Given the description of an element on the screen output the (x, y) to click on. 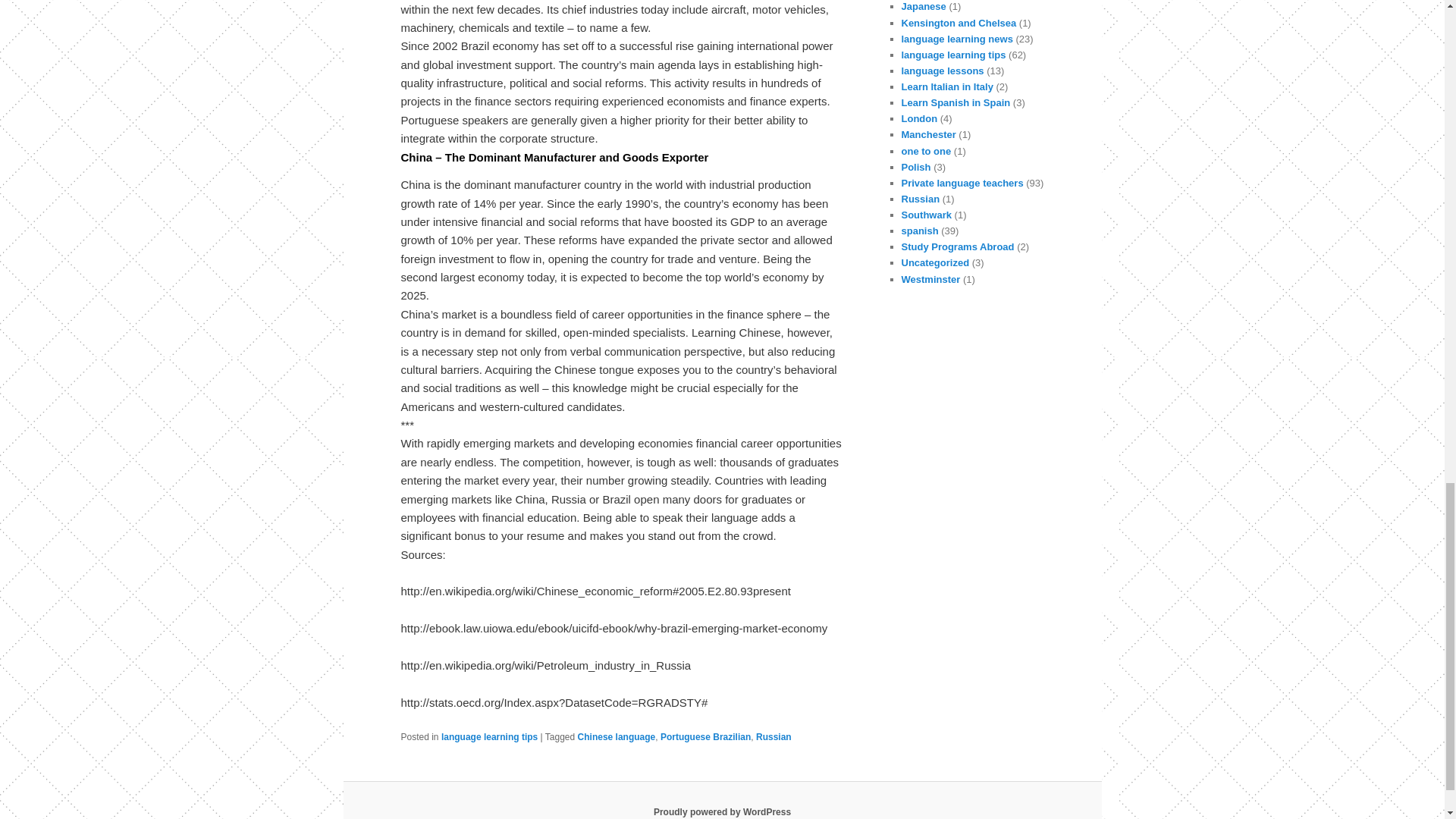
Semantic Personal Publishing Platform (721, 811)
language learning tips (489, 737)
Chinese language (617, 737)
Portuguese Brazilian (706, 737)
Russian (773, 737)
